Given the description of an element on the screen output the (x, y) to click on. 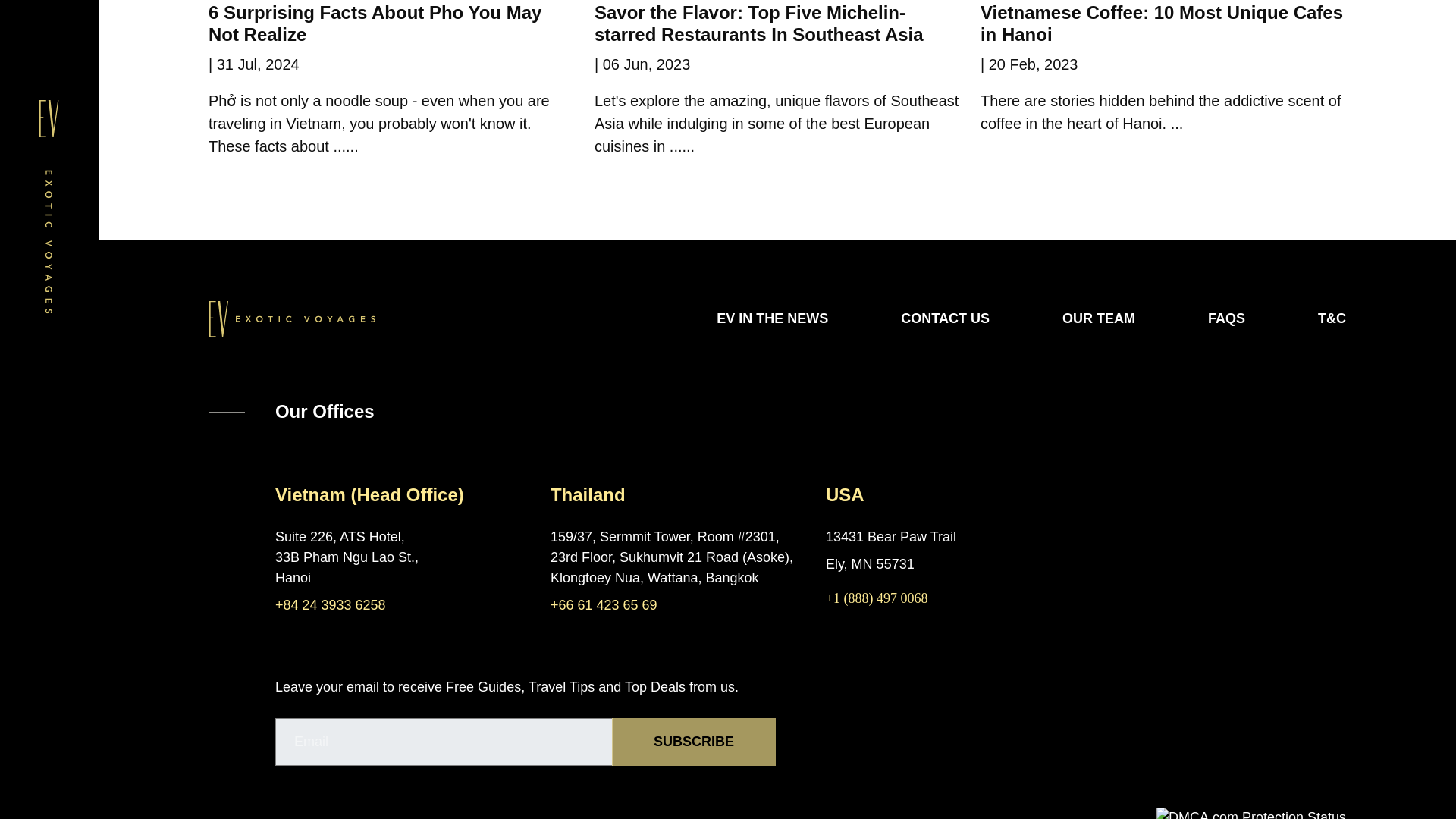
Our Team (1098, 318)
Facebook (284, 812)
FAQs (1226, 318)
twitter (322, 812)
EV in the News (772, 318)
Contact Us (945, 318)
